Given the description of an element on the screen output the (x, y) to click on. 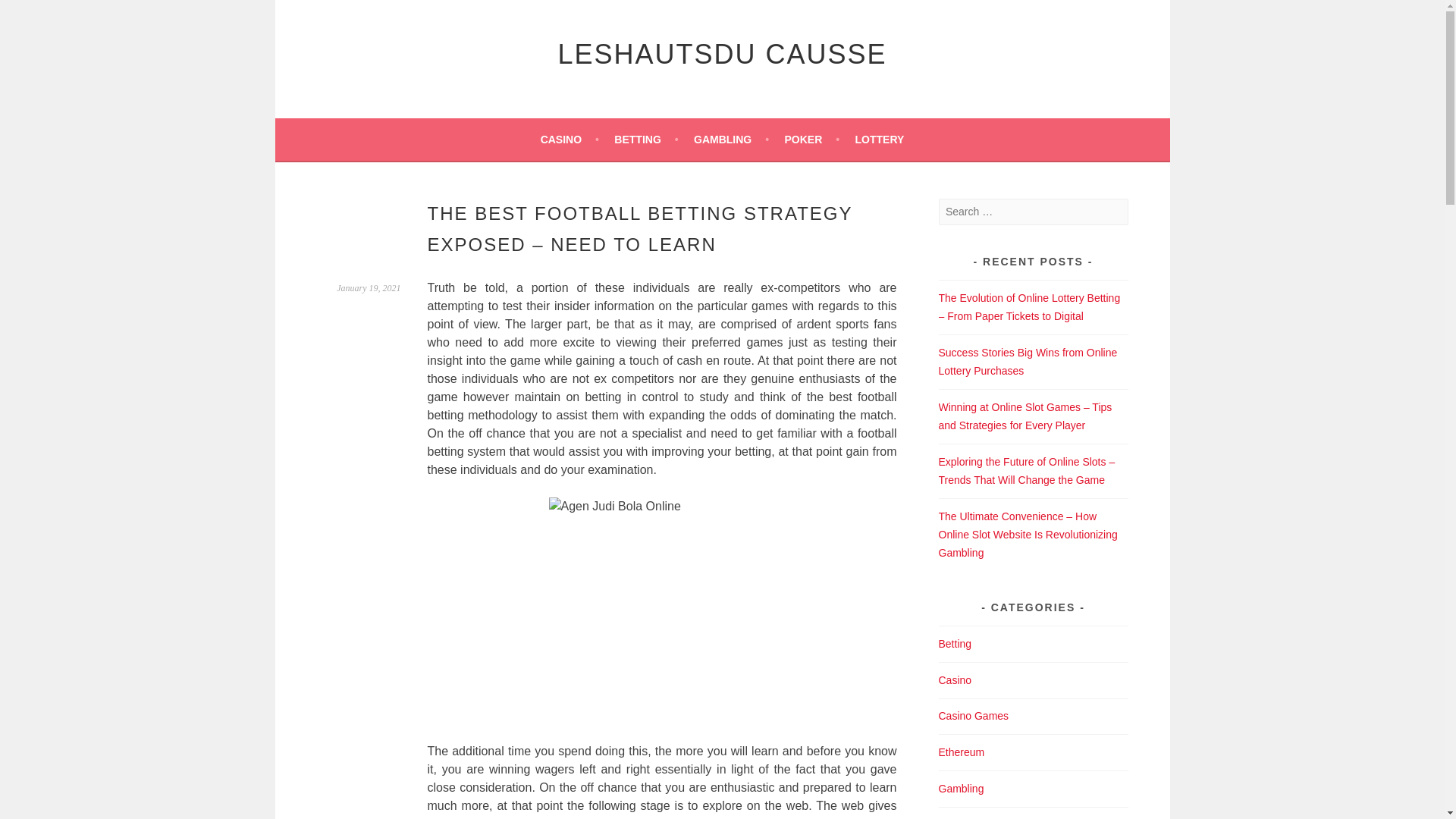
Leshautsdu Causse (721, 53)
Gambling (961, 788)
Success Stories Big Wins from Online Lottery Purchases (1028, 361)
CASINO (569, 139)
Betting (955, 644)
LOTTERY (880, 139)
POKER (812, 139)
BETTING (646, 139)
Casino Games (974, 715)
GAMBLING (731, 139)
